Given the description of an element on the screen output the (x, y) to click on. 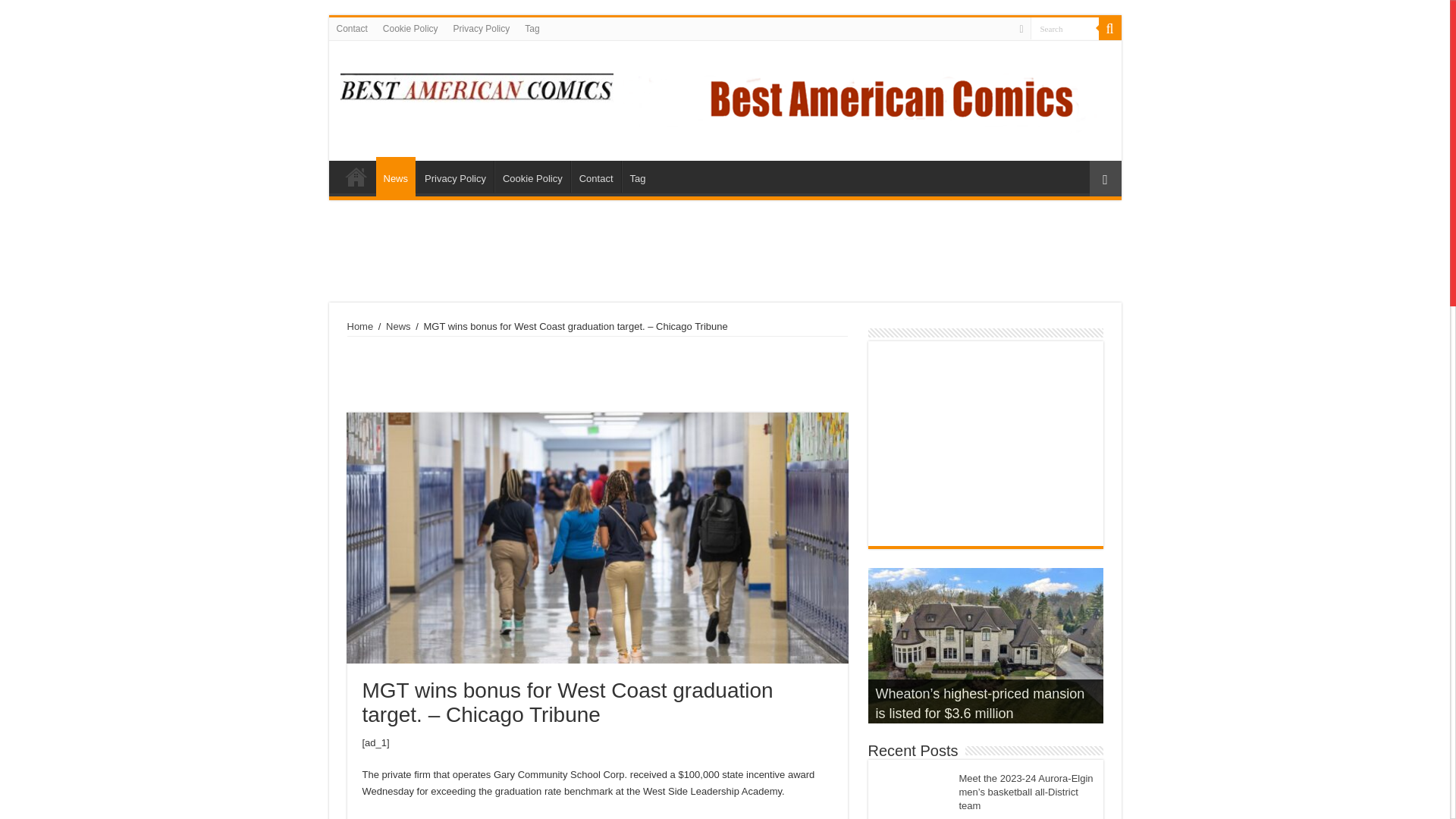
Advertisement (985, 443)
Search (1063, 28)
Home (360, 326)
Search (1063, 28)
Advertisement (724, 253)
Best American Comics News (475, 85)
Search (1109, 28)
Cookie Policy (410, 28)
Home (355, 176)
Tag (531, 28)
Advertisement (597, 374)
Contact (352, 28)
Cookie Policy (532, 176)
Privacy Policy (481, 28)
News (397, 326)
